Given the description of an element on the screen output the (x, y) to click on. 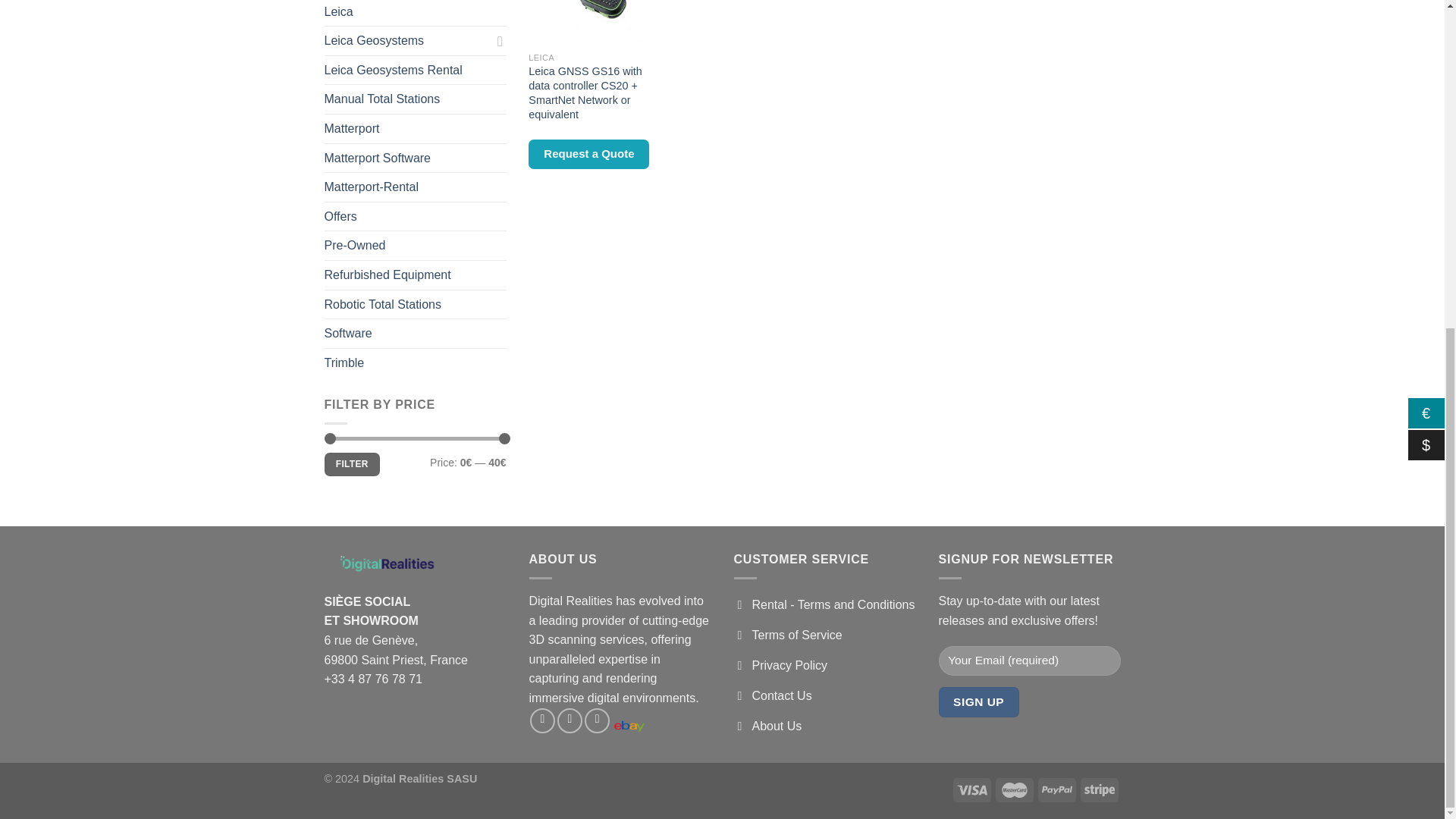
Sign Up (979, 701)
